Given the description of an element on the screen output the (x, y) to click on. 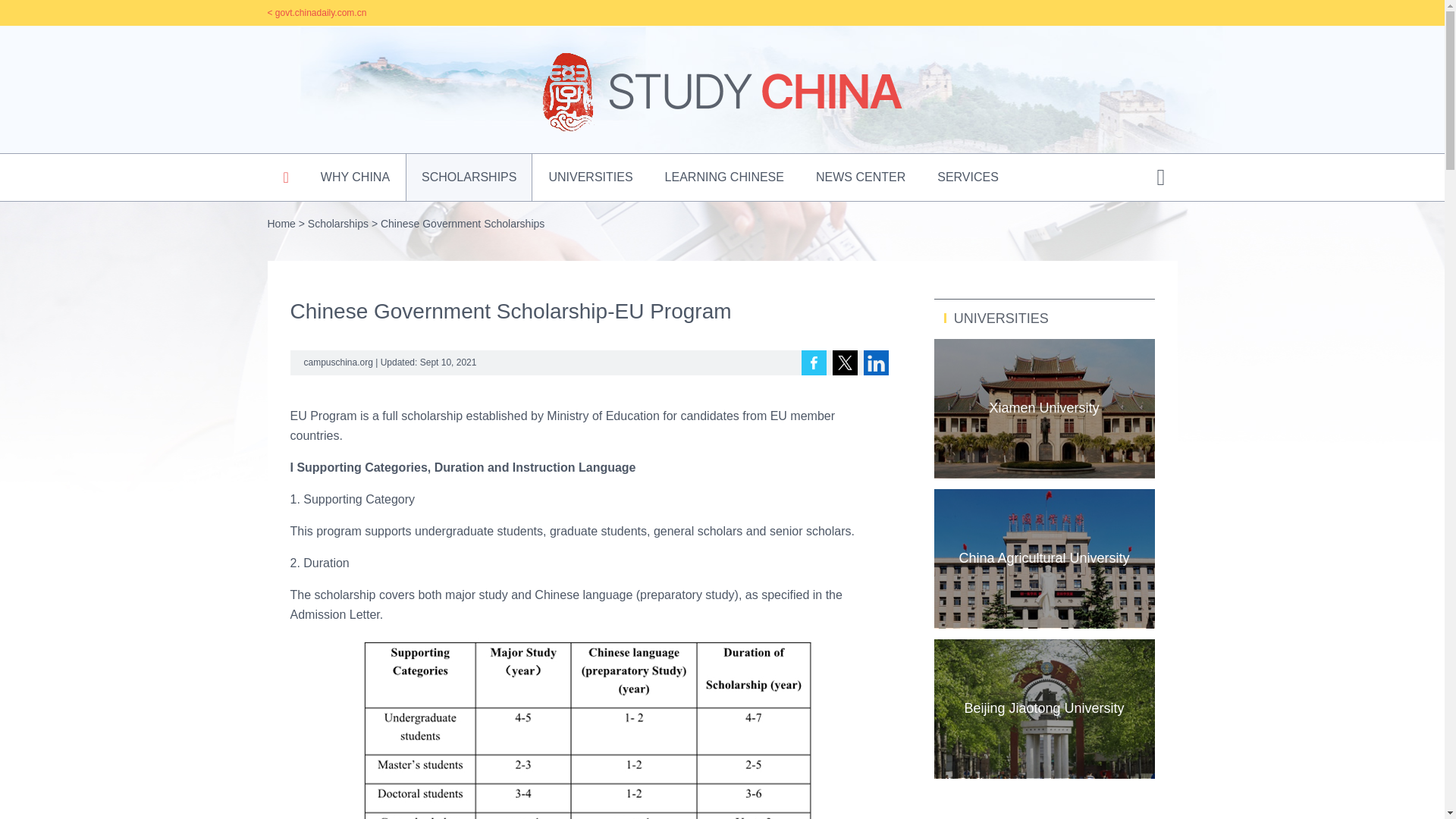
LEARNING CHINESE (724, 176)
SERVICES (967, 176)
Scholarships (337, 223)
UNIVERSITIES (589, 176)
SCHOLARSHIPS (469, 176)
NEWS CENTER (860, 176)
Home (280, 223)
Chinese Government Scholarships (462, 223)
WHY CHINA (355, 176)
